Given the description of an element on the screen output the (x, y) to click on. 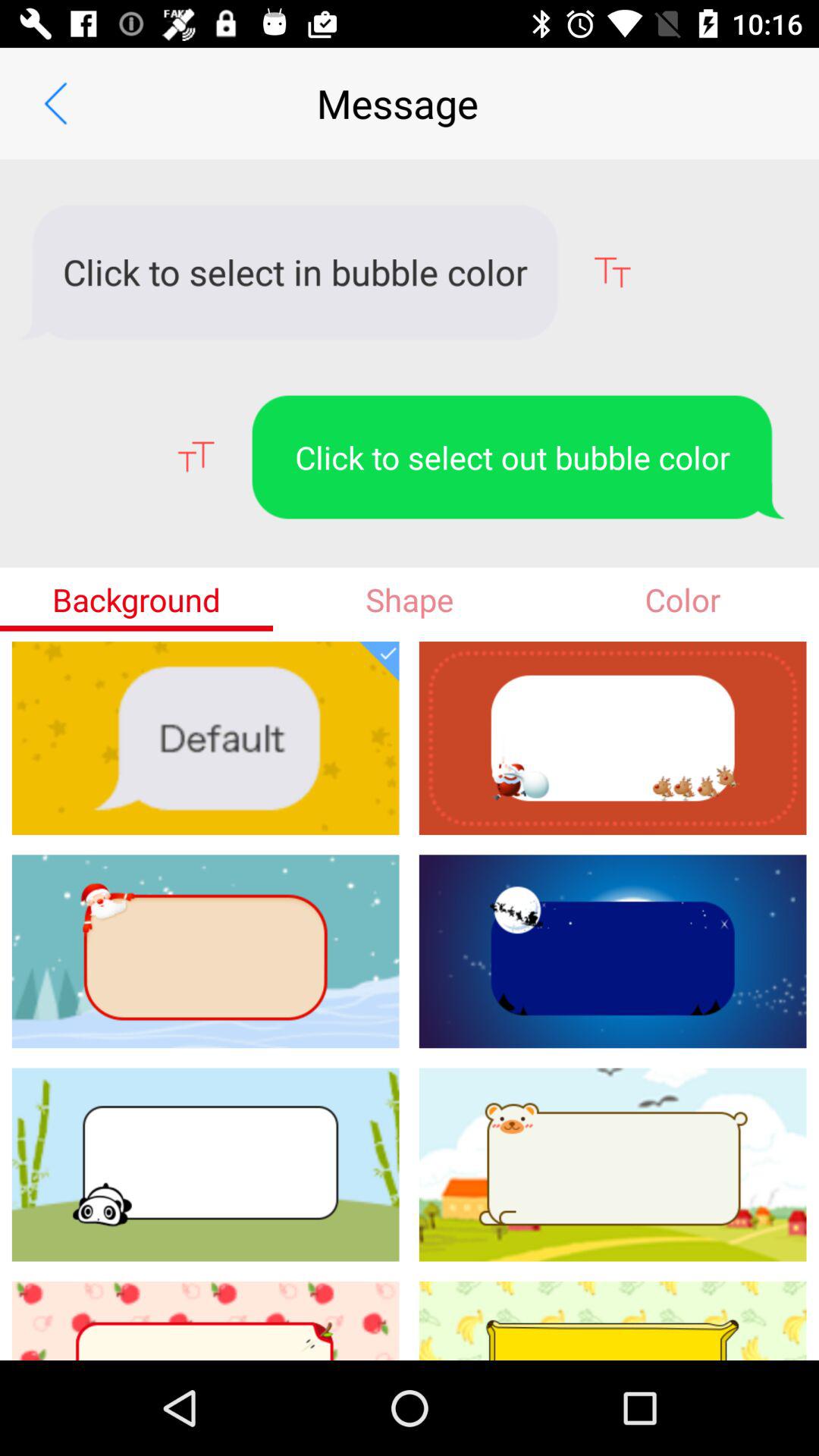
open icon next to the message app (55, 103)
